Given the description of an element on the screen output the (x, y) to click on. 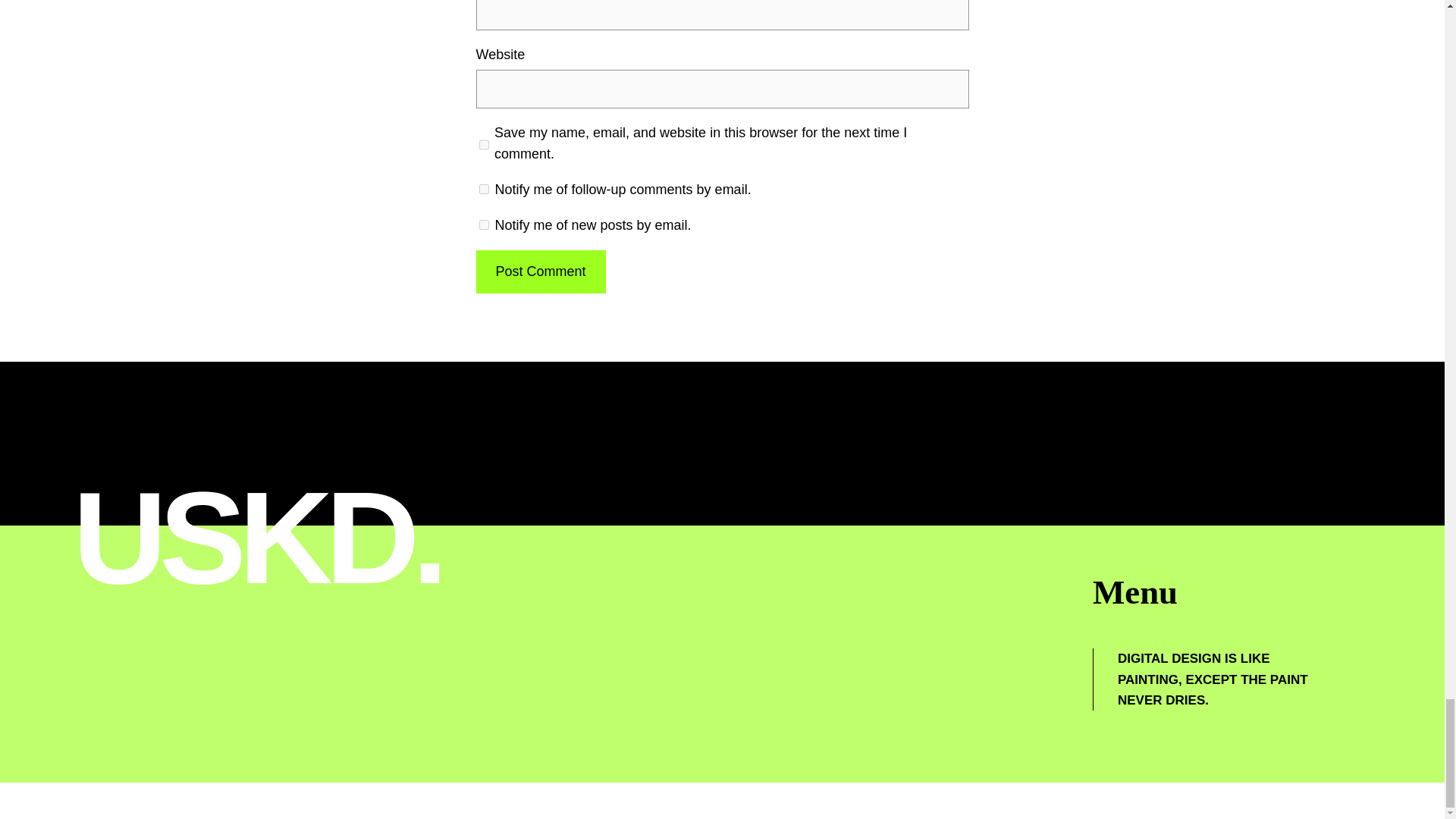
Menu (1135, 591)
Post Comment (540, 271)
subscribe (484, 225)
subscribe (484, 189)
Post Comment (540, 271)
